Given the description of an element on the screen output the (x, y) to click on. 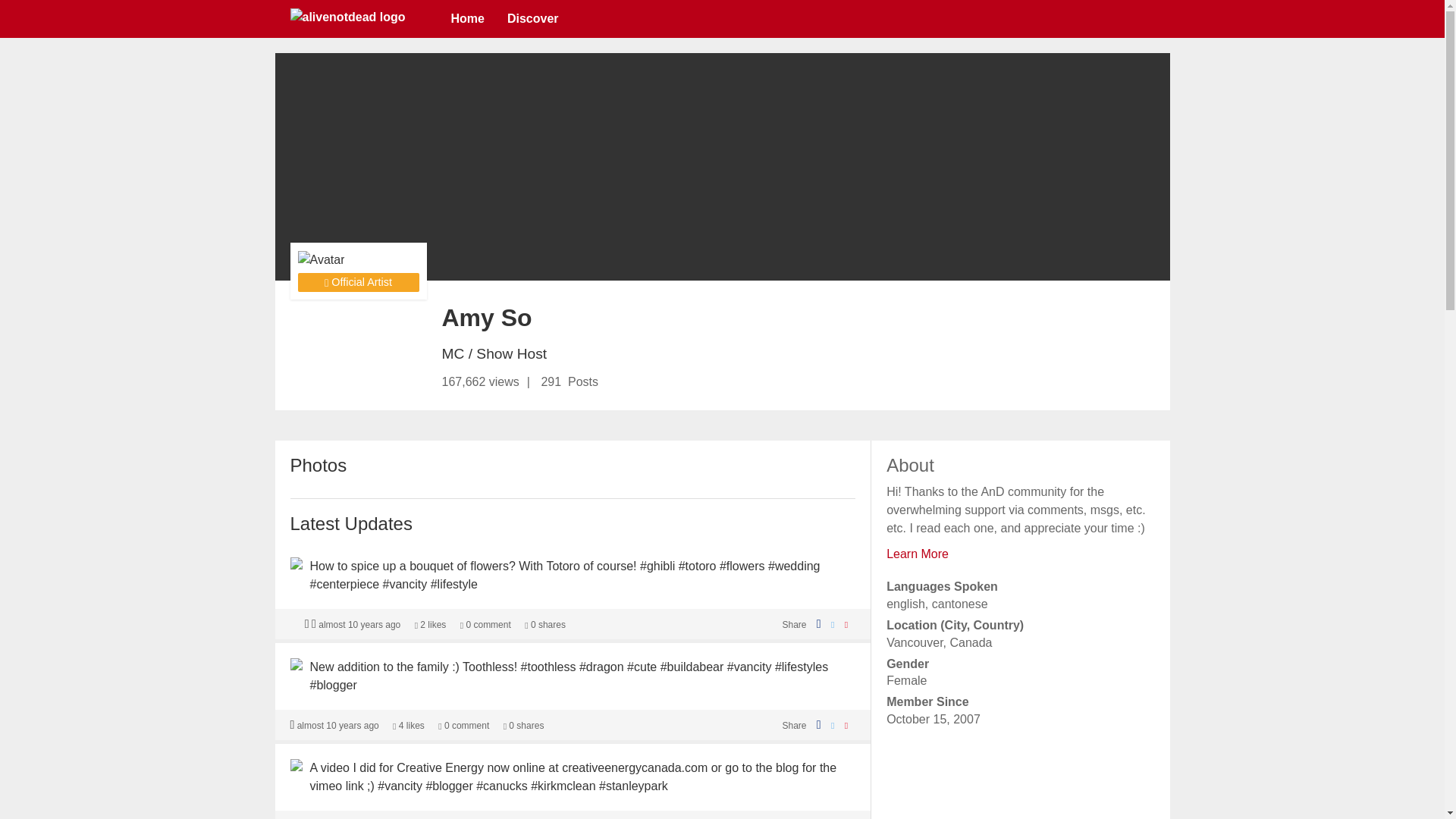
Home (467, 18)
Discover (533, 18)
 0 comment (485, 624)
almost 10 years ago (359, 624)
 0 comment (463, 725)
almost 10 years ago (337, 725)
